Given the description of an element on the screen output the (x, y) to click on. 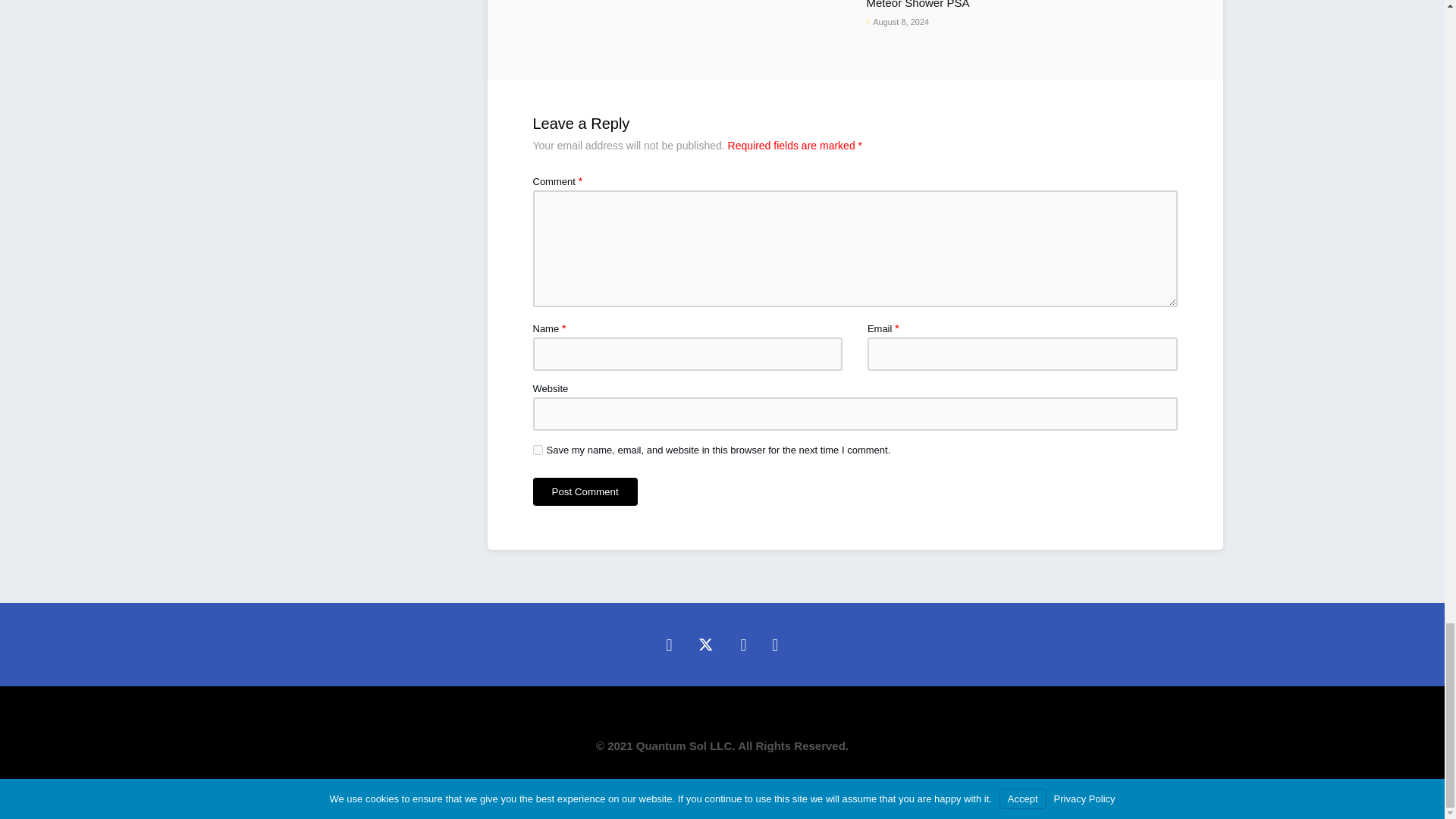
Meteor Shower PSA (983, 6)
Post Comment (584, 491)
Post Comment (584, 491)
yes (536, 450)
